Given the description of an element on the screen output the (x, y) to click on. 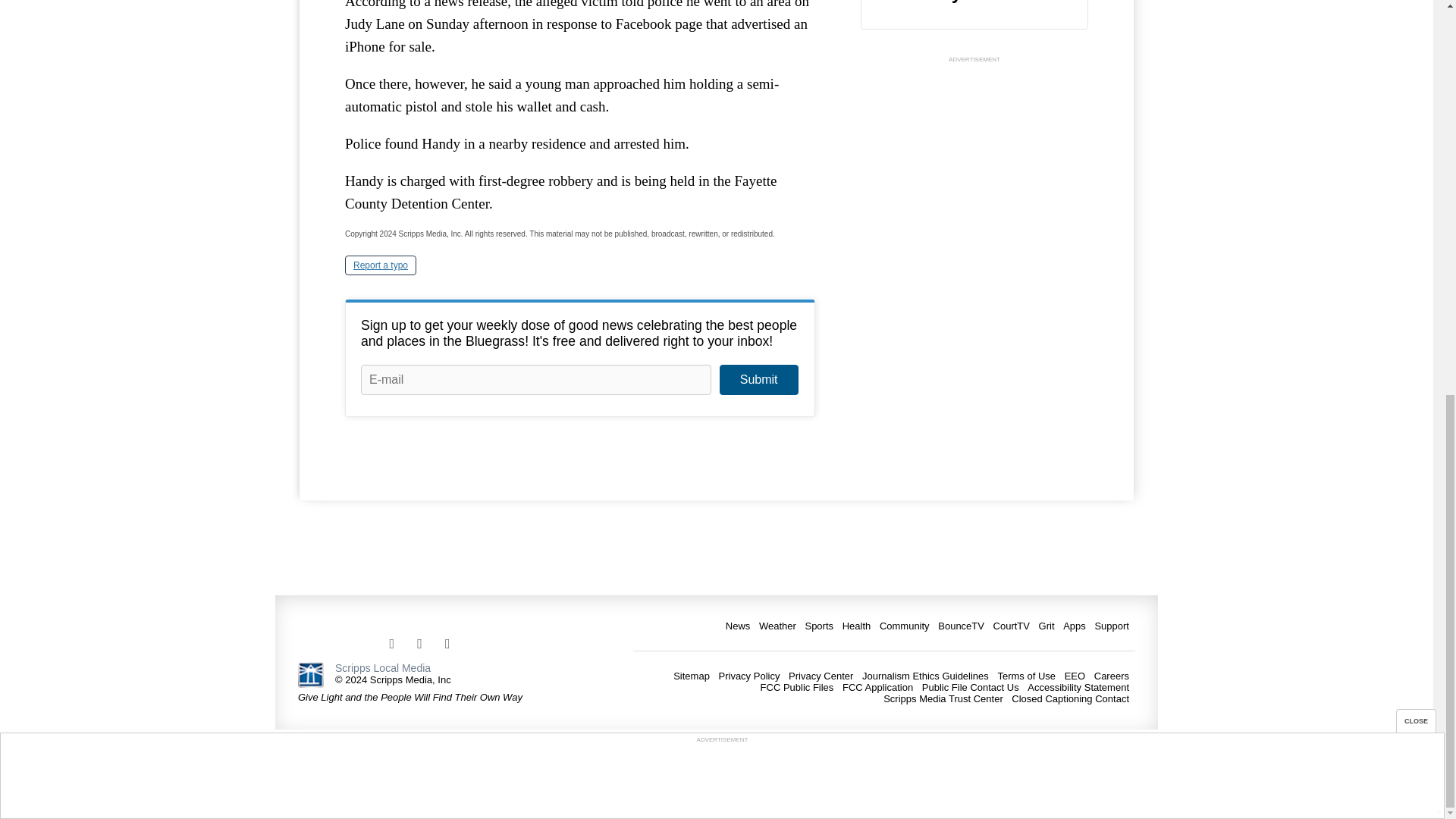
3rd party ad content (721, 27)
3rd party ad content (973, 161)
Submit (758, 379)
